Given the description of an element on the screen output the (x, y) to click on. 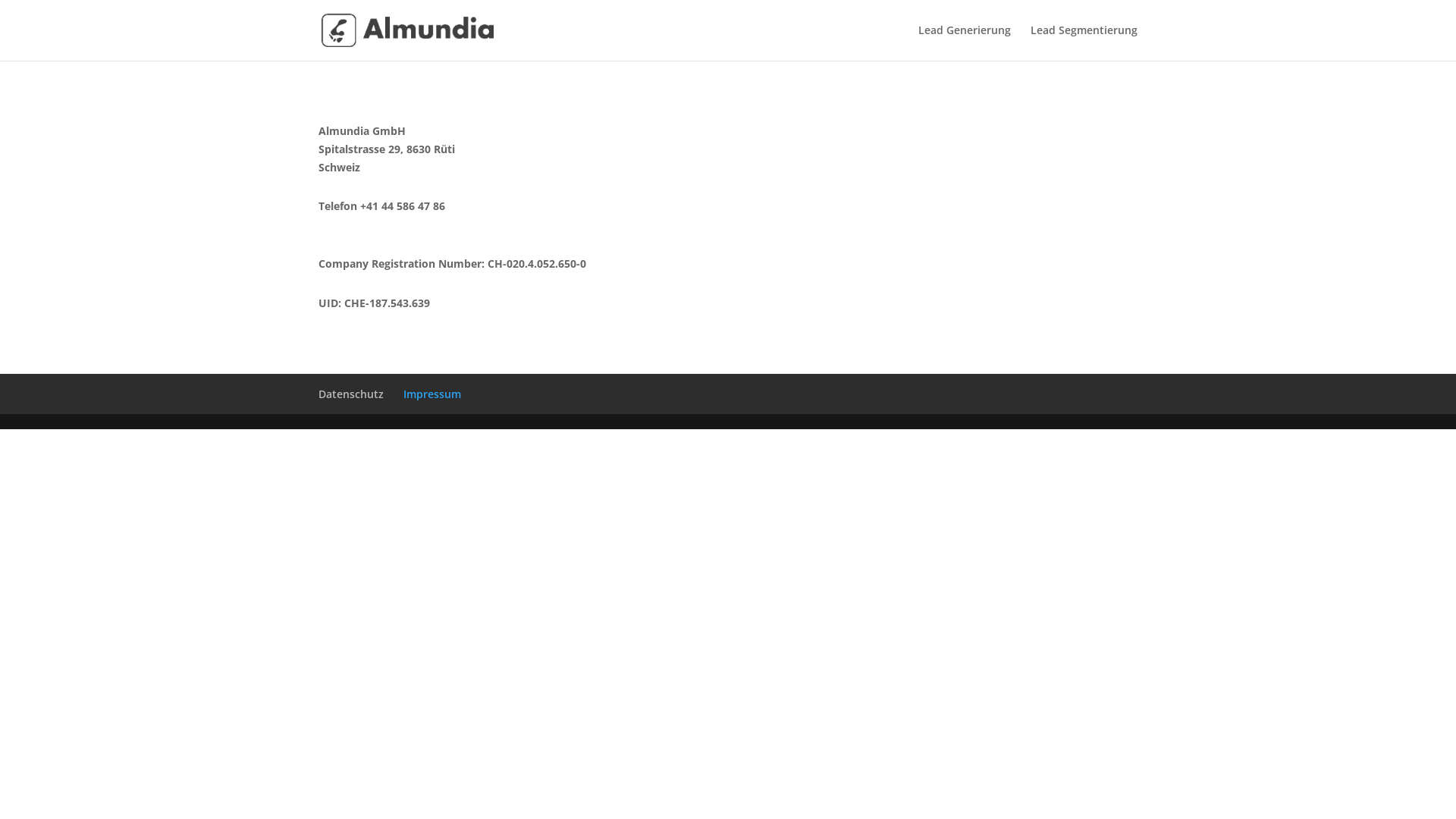
Datenschutz Element type: text (350, 393)
Impressum Element type: text (432, 393)
Lead Generierung Element type: text (964, 42)
Lead Segmentierung Element type: text (1083, 42)
